Given the description of an element on the screen output the (x, y) to click on. 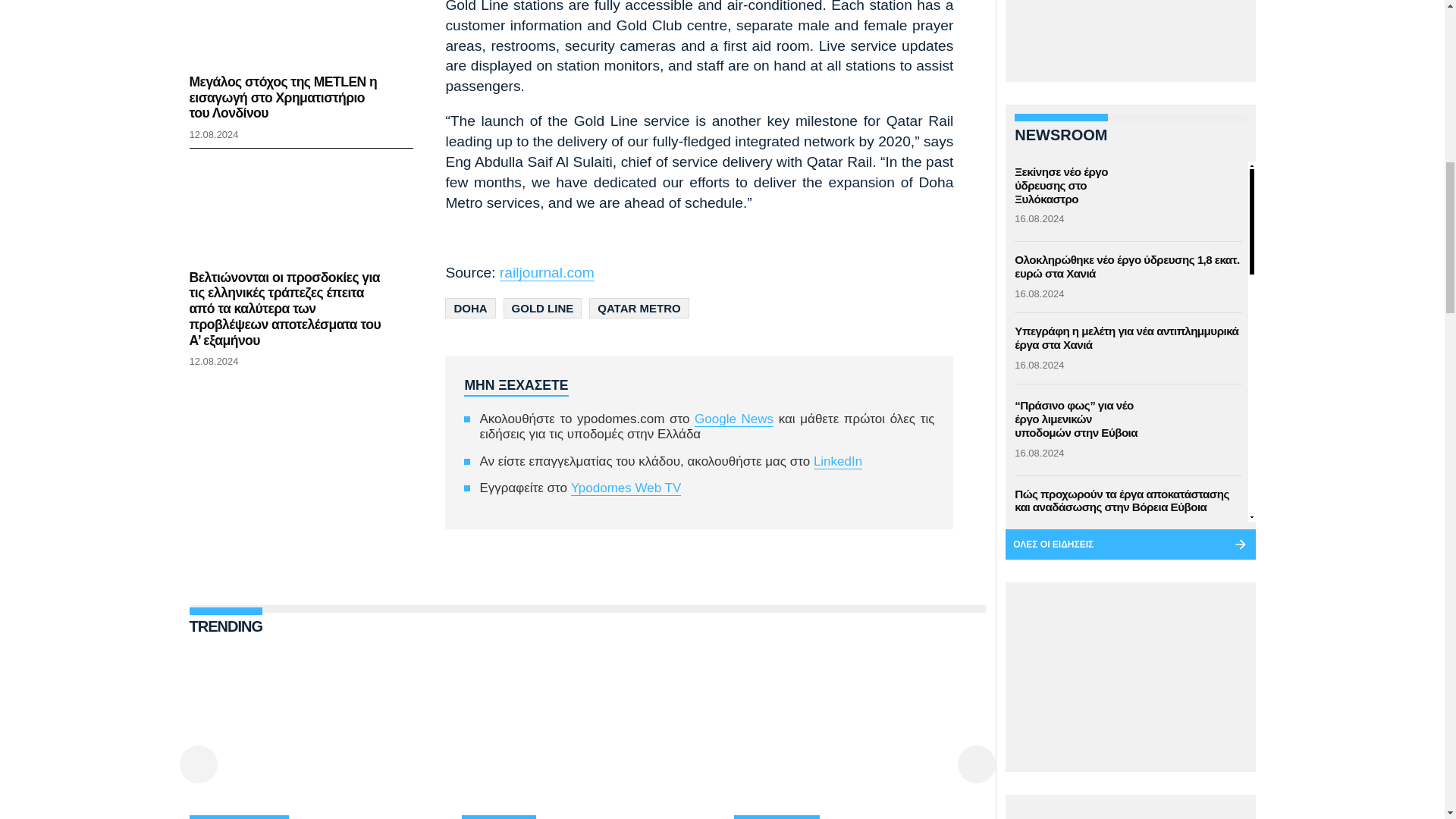
QATAR METRO (638, 308)
GOLD LINE (542, 308)
Google News (733, 418)
Ypodomes Web TV (625, 488)
DOHA (470, 308)
railjournal.com (546, 272)
LinkedIn (837, 460)
Previous (197, 763)
